Given the description of an element on the screen output the (x, y) to click on. 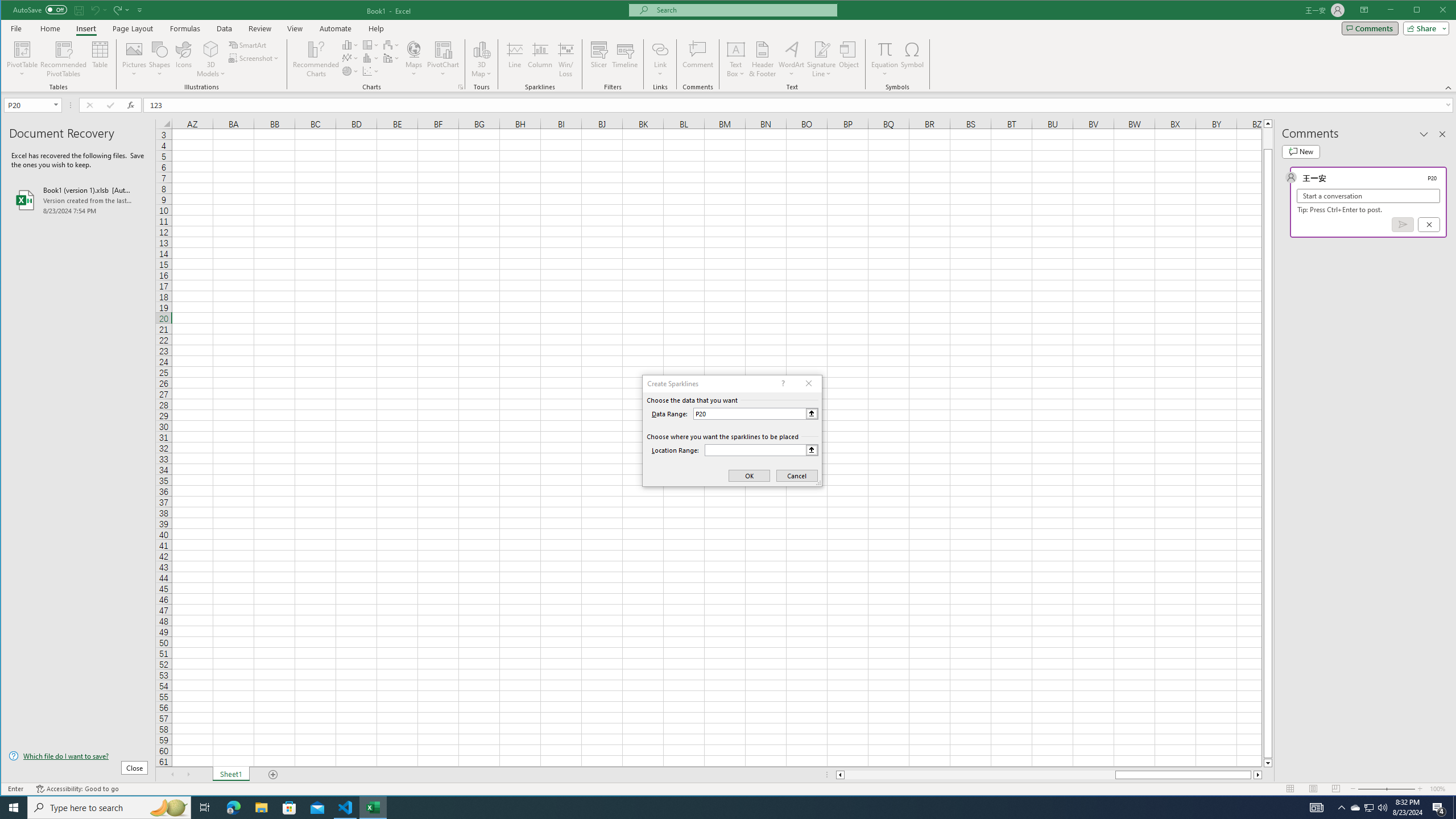
WordArt (791, 59)
Table (100, 59)
Post comment (Ctrl + Enter) (1402, 224)
Maps (413, 59)
Symbol... (912, 59)
Shapes (159, 59)
